Given the description of an element on the screen output the (x, y) to click on. 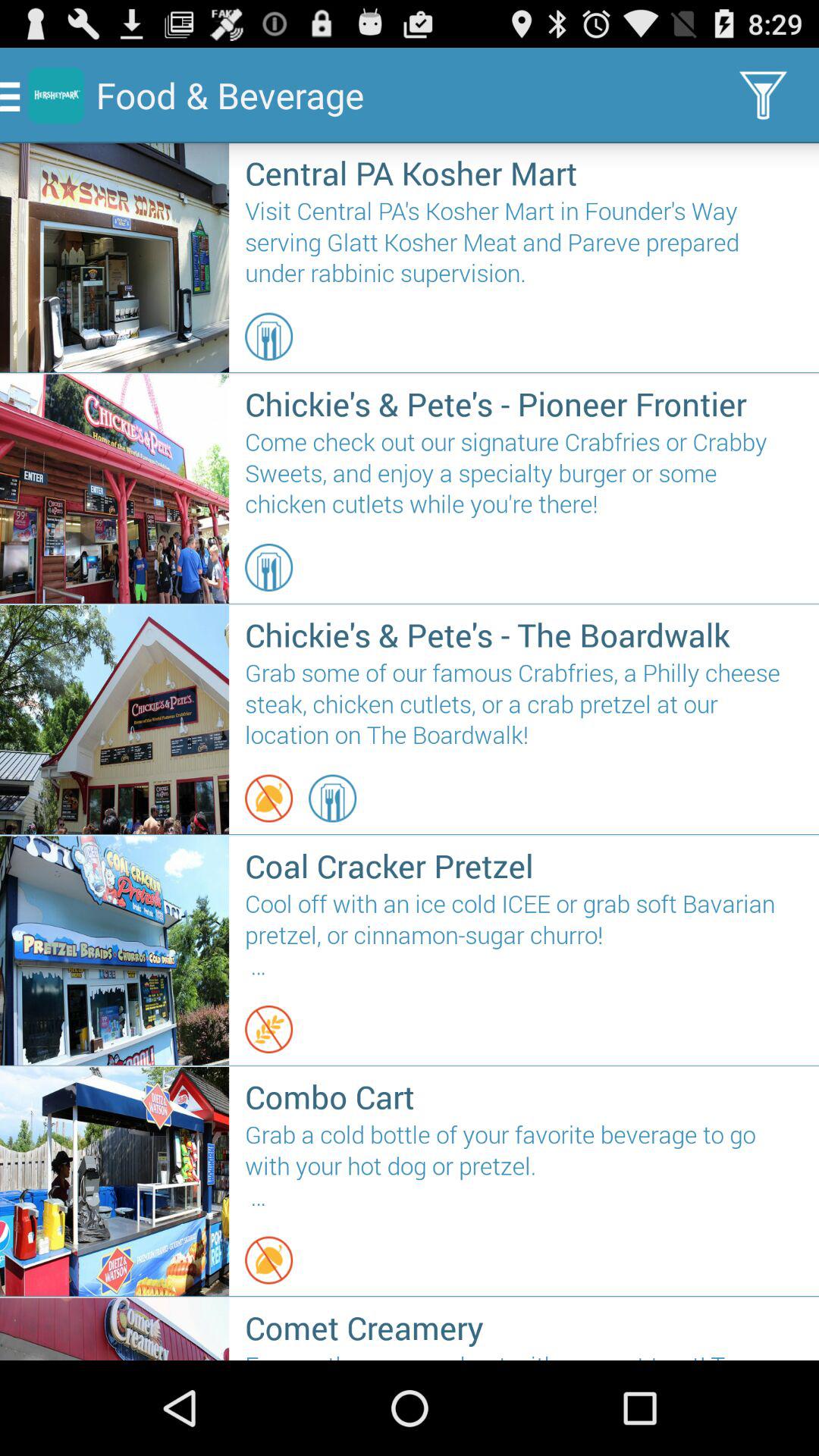
select item above coal cracker pretzel item (268, 798)
